Given the description of an element on the screen output the (x, y) to click on. 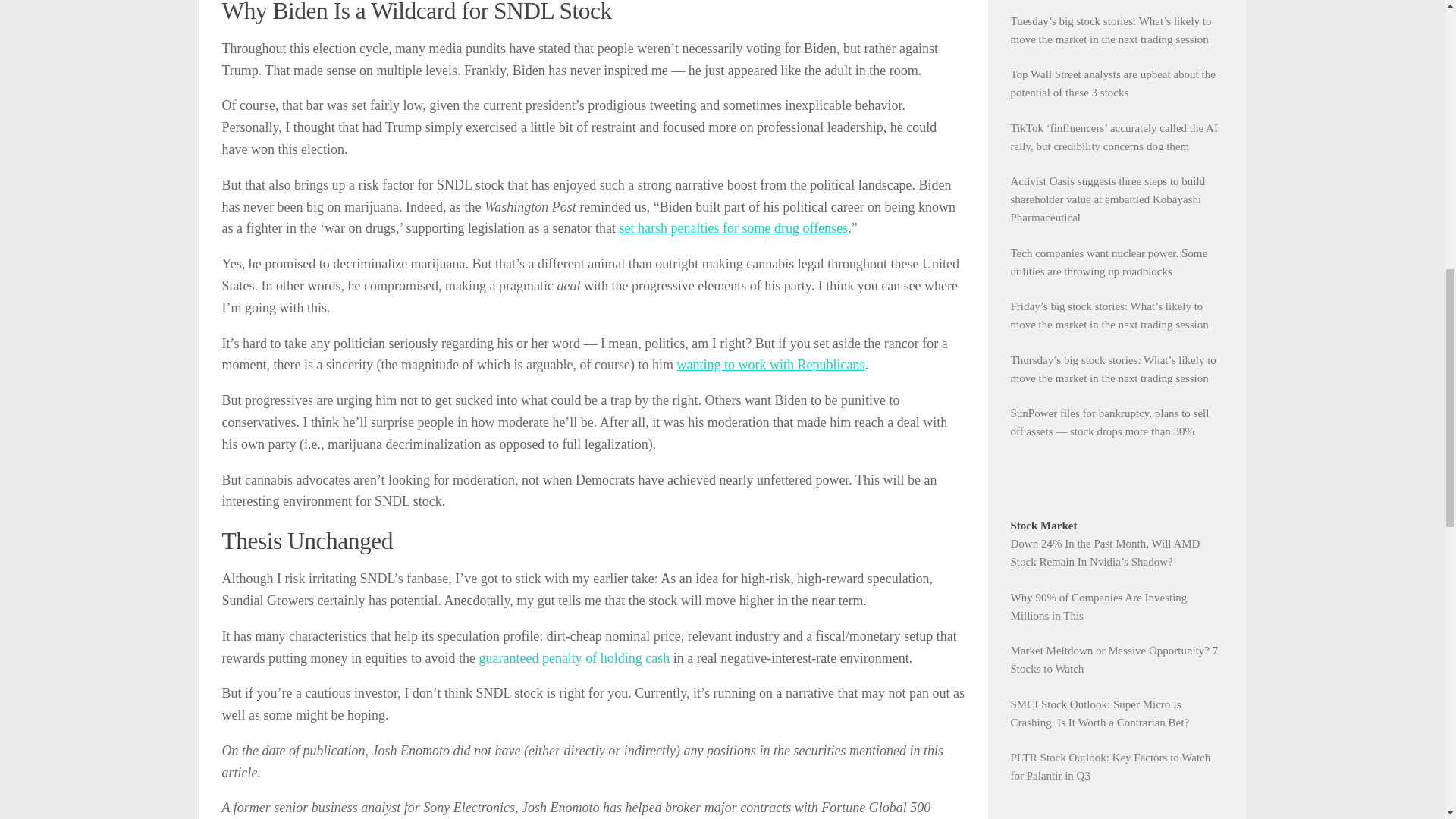
wanting to work with Republicans (770, 364)
guaranteed penalty of holding cash (574, 657)
set harsh penalties for some drug offenses (734, 227)
